Given the description of an element on the screen output the (x, y) to click on. 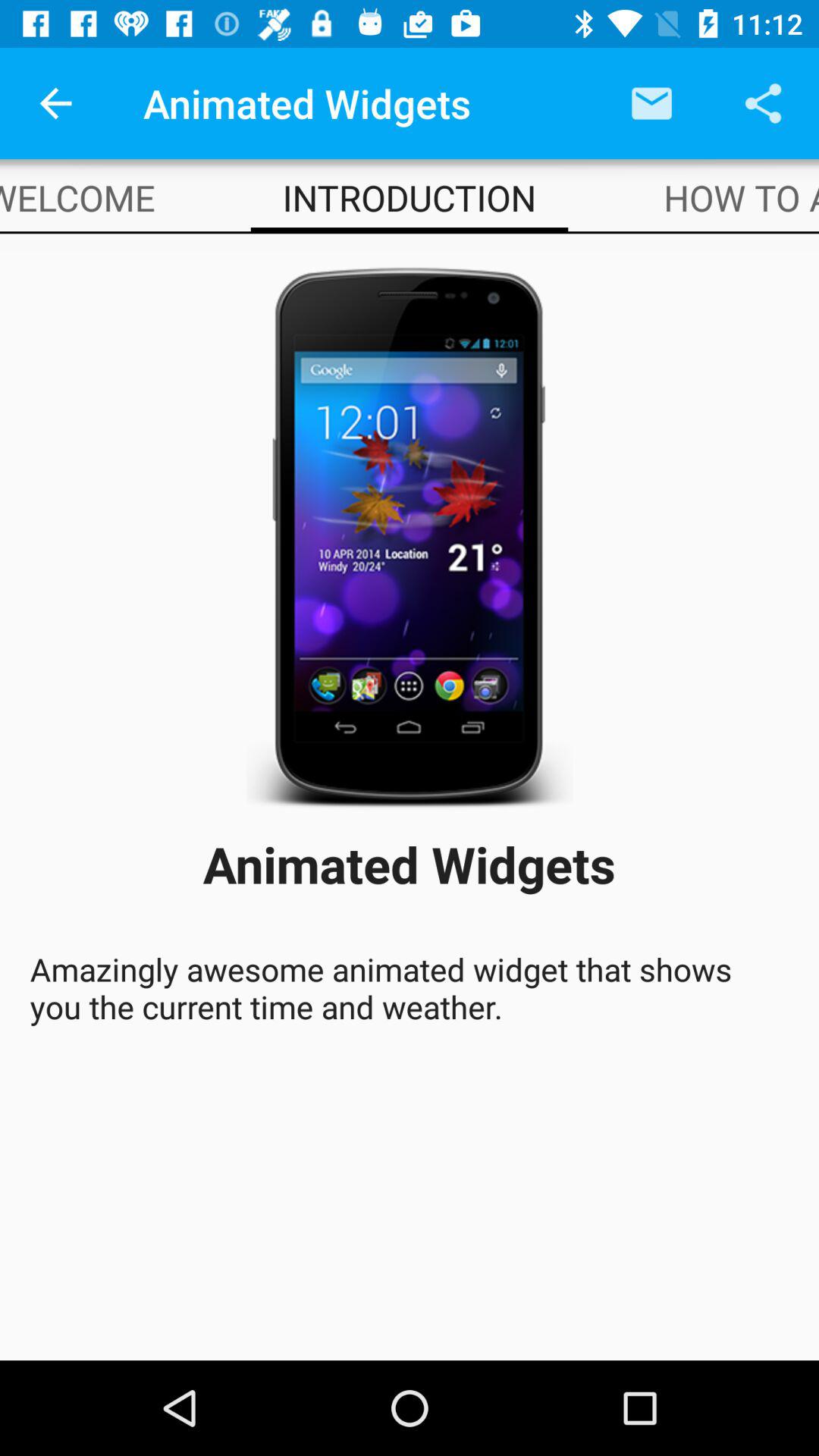
turn on item above amazingly awesome animated (741, 197)
